Given the description of an element on the screen output the (x, y) to click on. 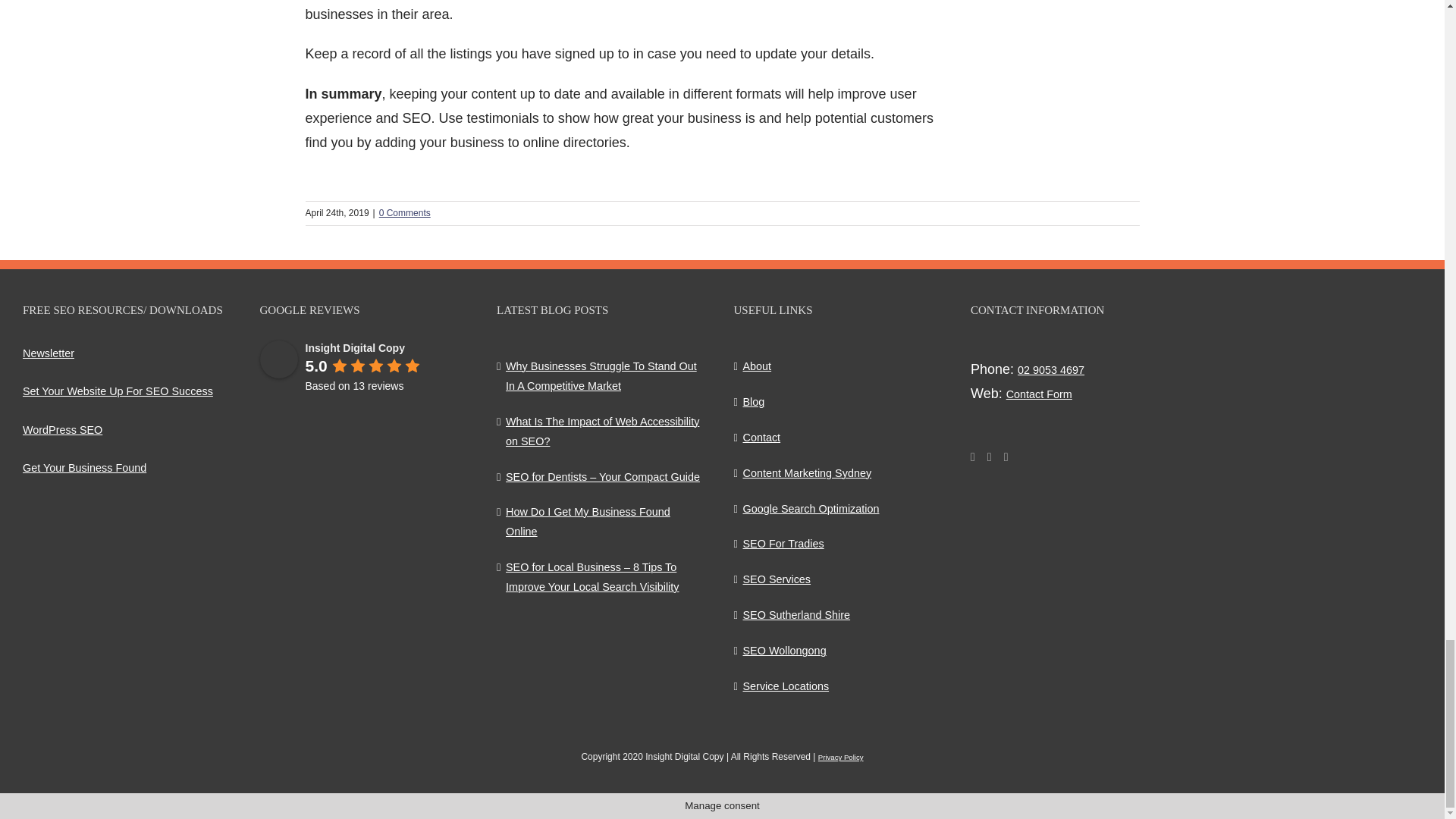
0 Comments (404, 213)
Insight Digital Copy (354, 347)
WordPress SEO (62, 429)
Insight Digital Copy (278, 359)
Get Your Business Found (85, 467)
Set Your Website Up For SEO Success (117, 390)
Newsletter (48, 353)
